Given the description of an element on the screen output the (x, y) to click on. 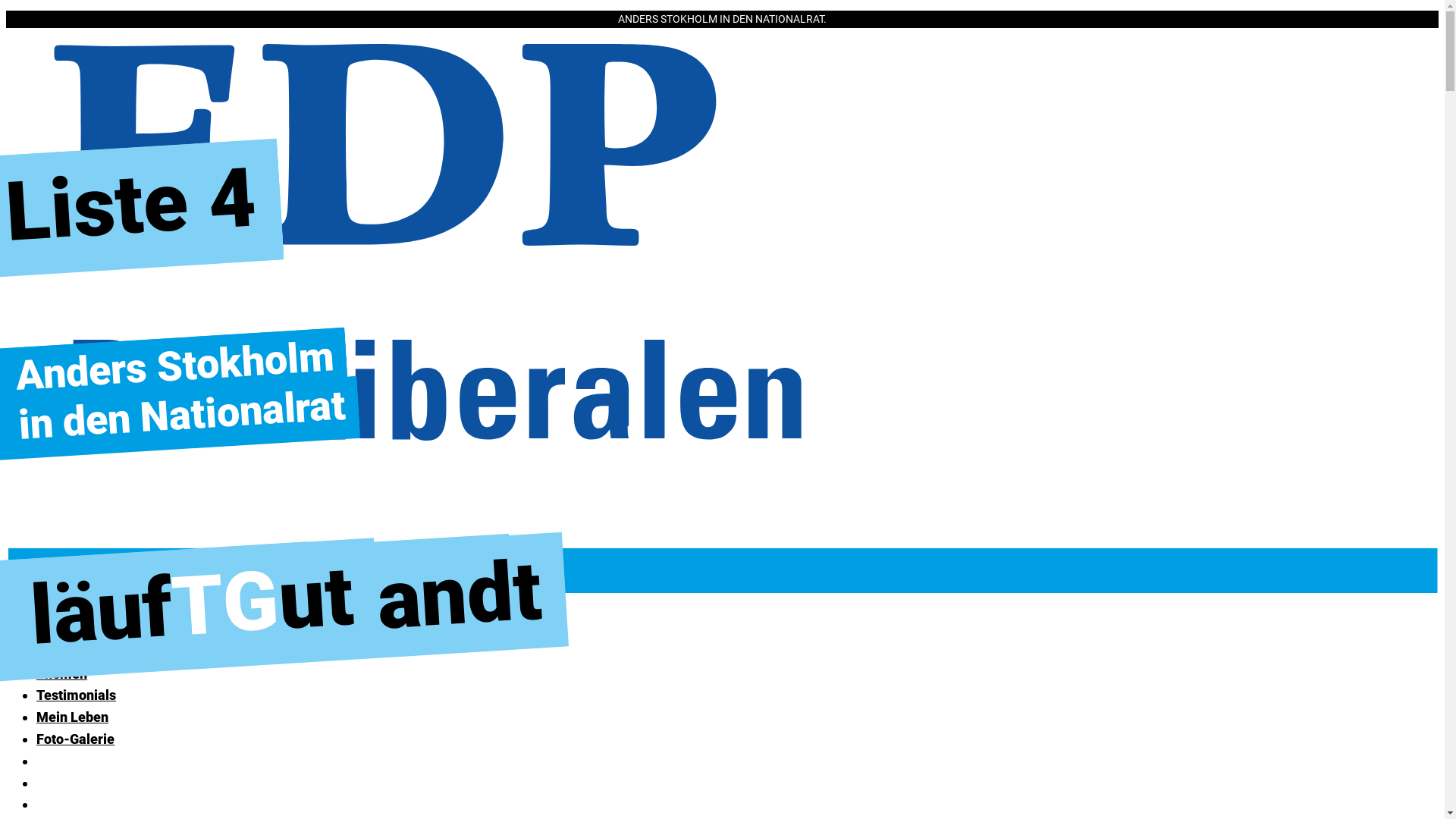
Themen Element type: text (61, 673)
Foto-Galerie Element type: text (75, 738)
Testimonials Element type: text (76, 694)
Mein Leben Element type: text (72, 716)
Meine Motivation Element type: text (90, 651)
